Given the description of an element on the screen output the (x, y) to click on. 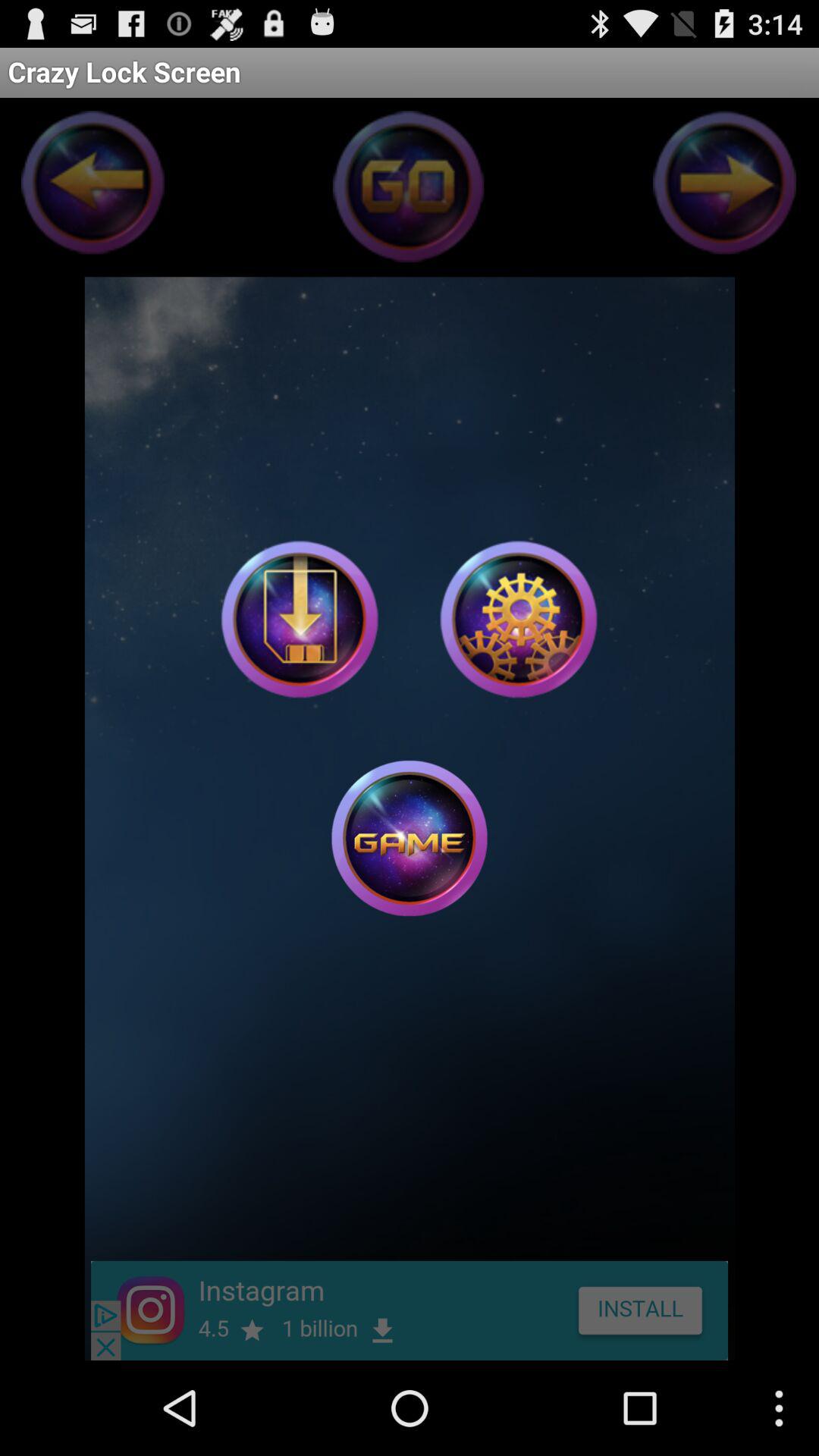
open settings menu (518, 618)
